Given the description of an element on the screen output the (x, y) to click on. 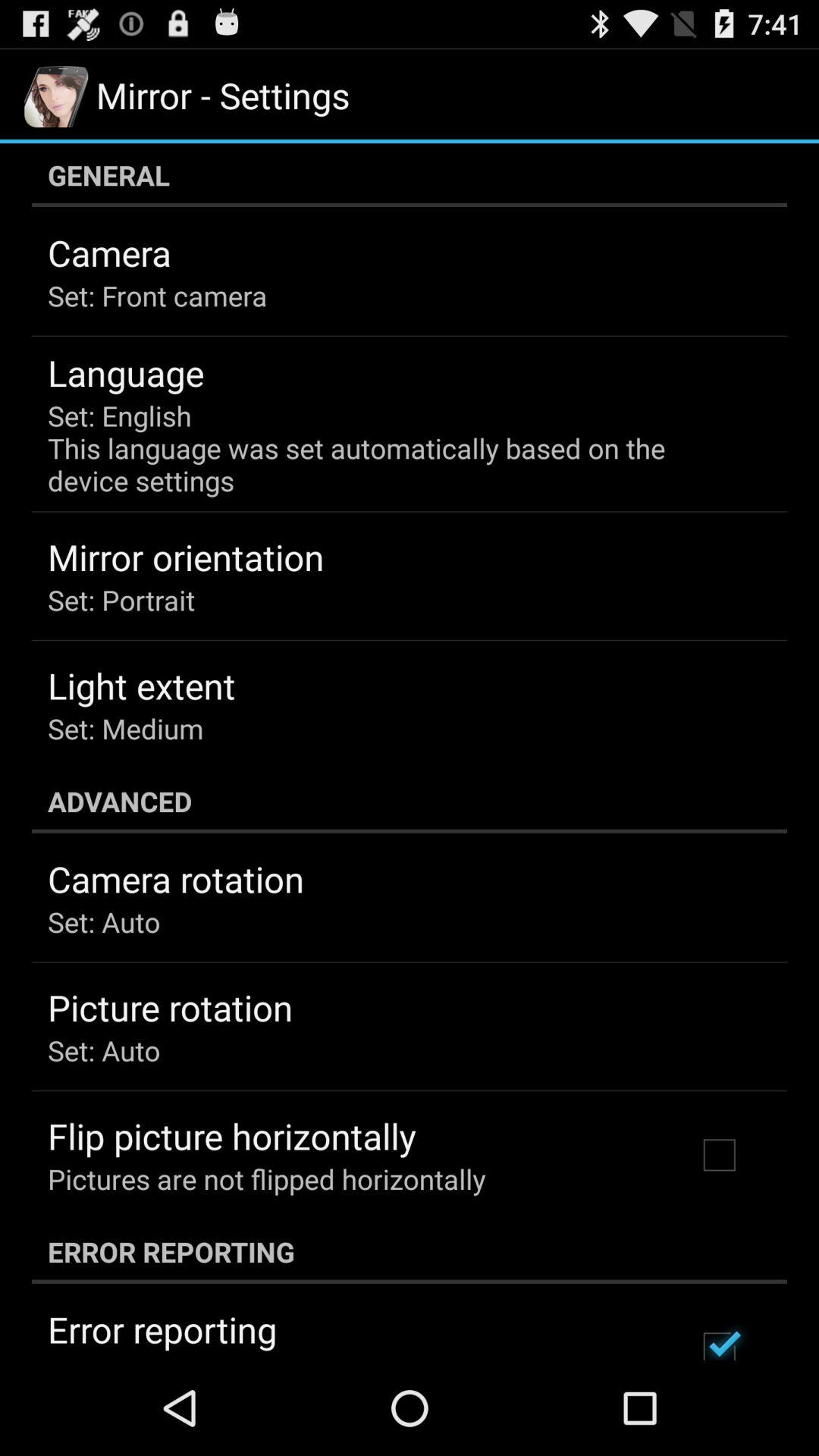
press light extent app (141, 685)
